Given the description of an element on the screen output the (x, y) to click on. 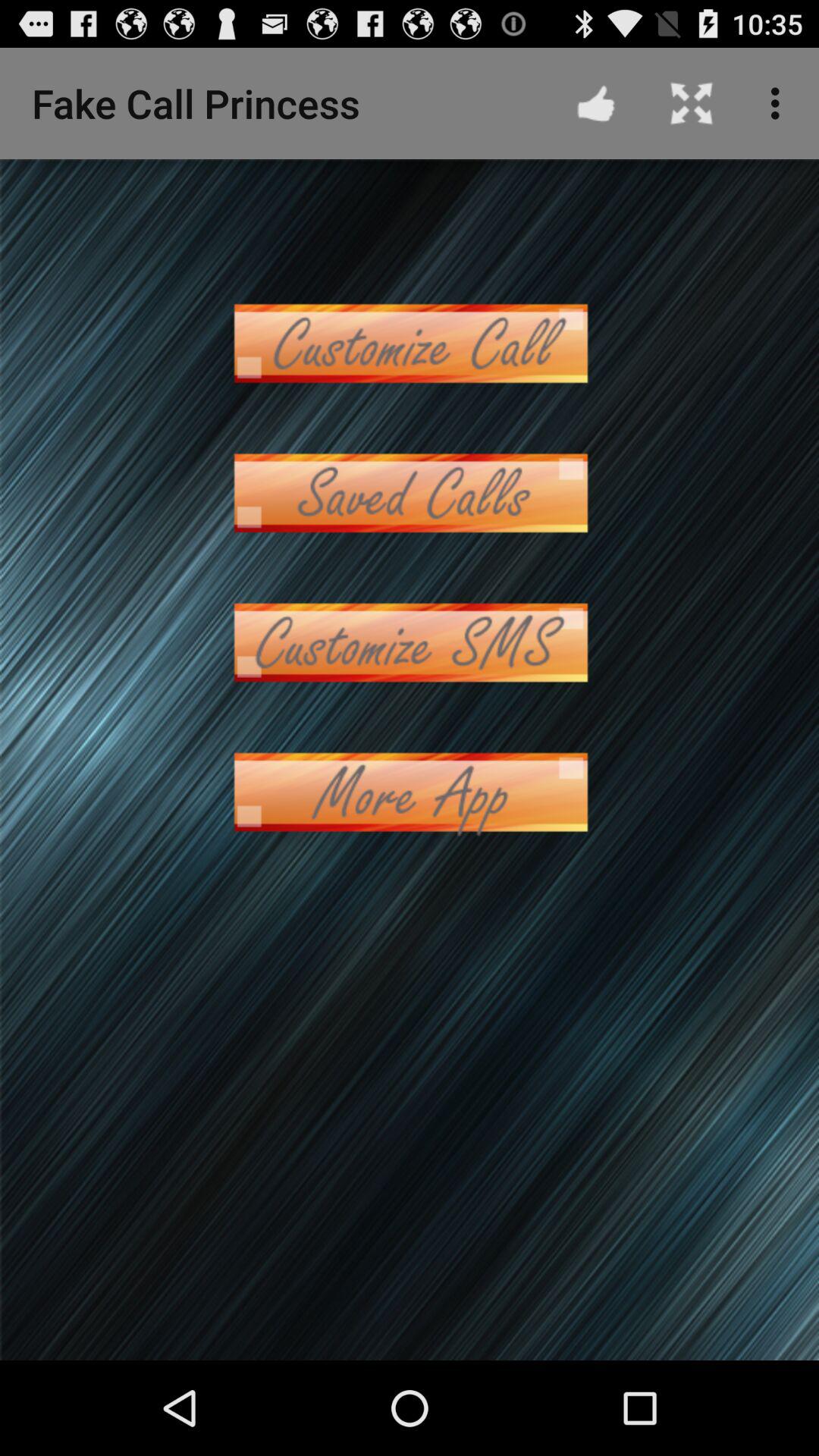
select call (409, 492)
